Given the description of an element on the screen output the (x, y) to click on. 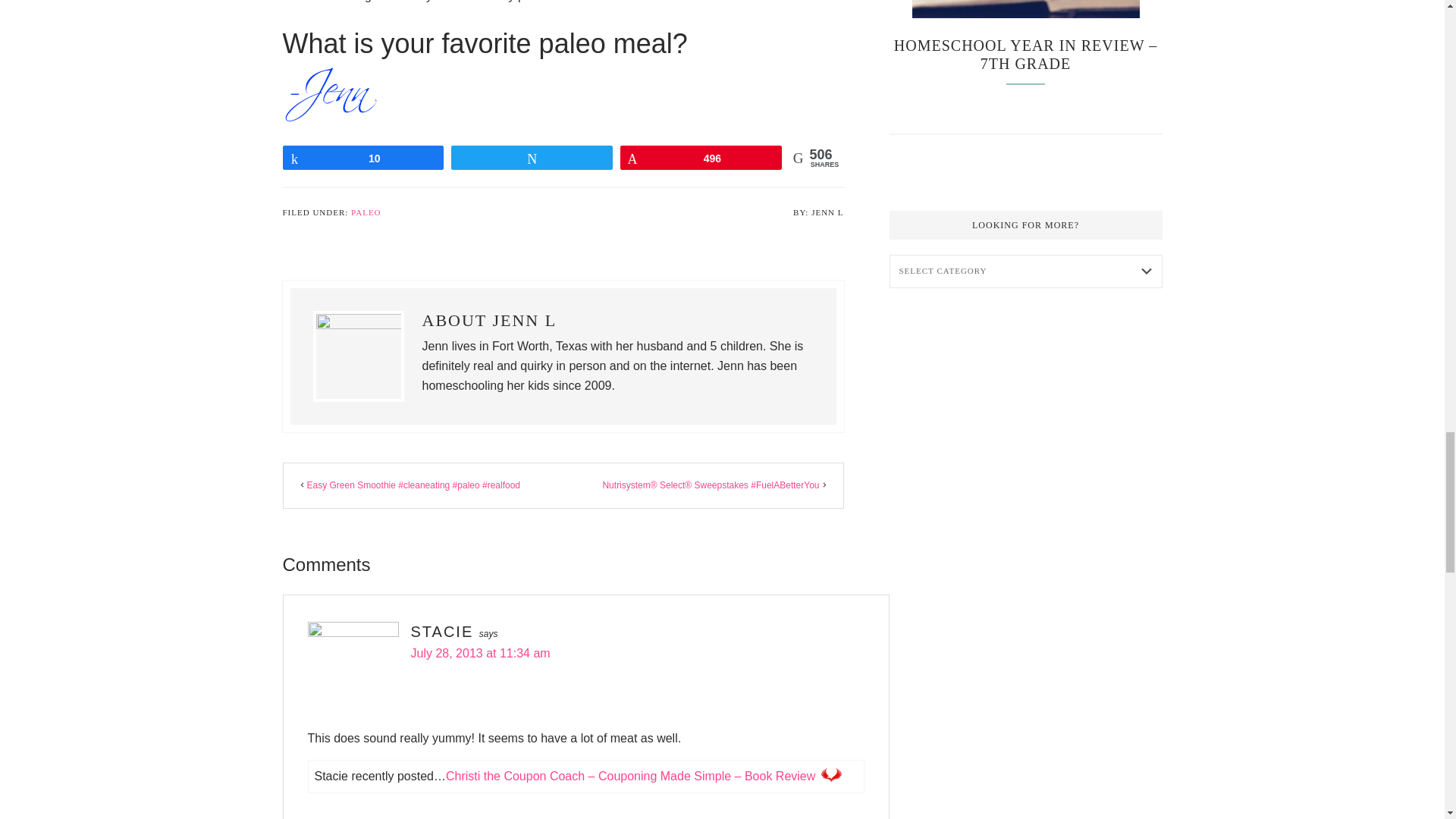
STACIE (442, 631)
496 (700, 157)
10 (363, 157)
PALEO (365, 212)
